Given the description of an element on the screen output the (x, y) to click on. 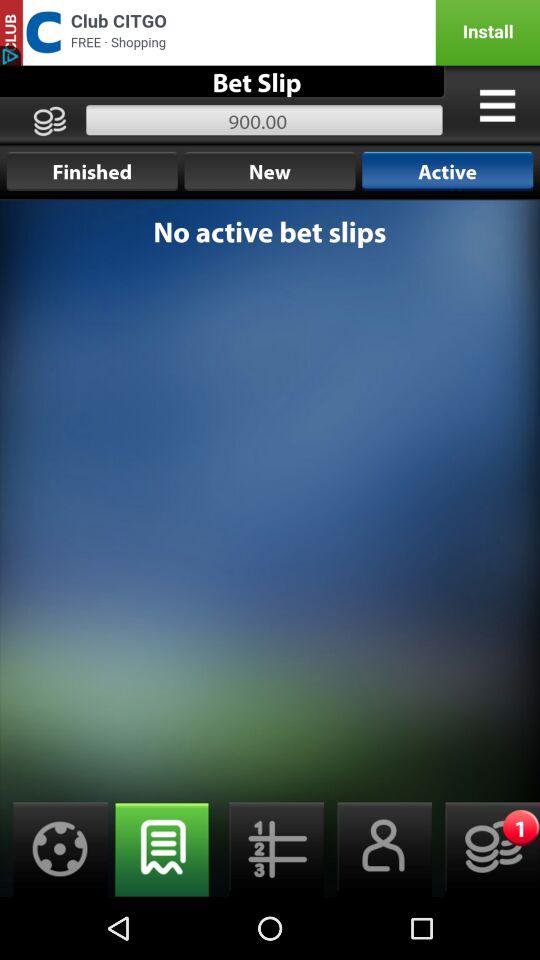
advertisement (270, 32)
